Given the description of an element on the screen output the (x, y) to click on. 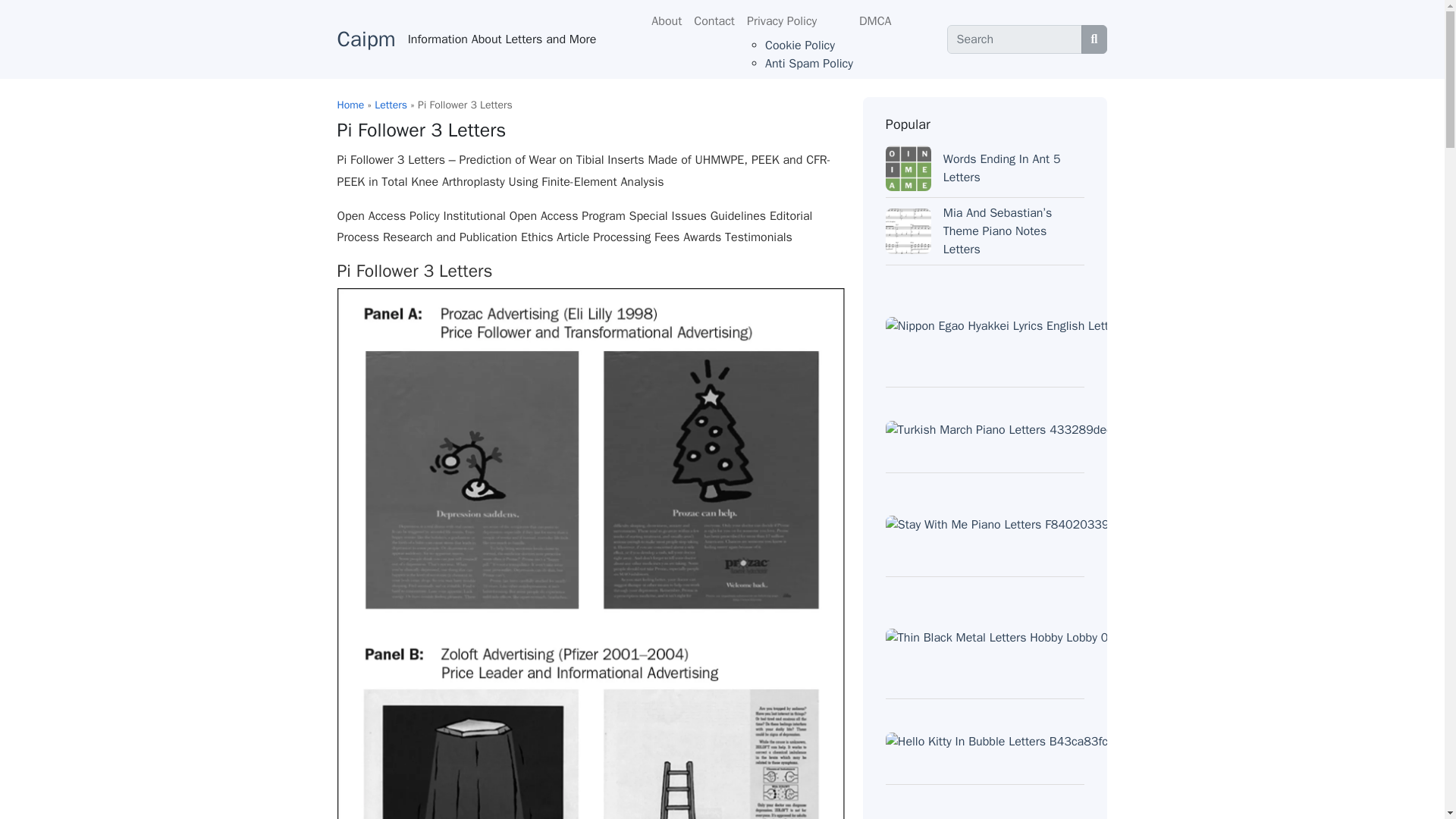
Caipm (365, 39)
About (666, 20)
About (666, 20)
Anti Spam Policy (809, 63)
Words Ending In Ant 5 Letters (1002, 168)
Privacy Policy (797, 20)
Contact (714, 20)
Words Ending In Ant 5 Letters (1002, 168)
Search (1014, 39)
DMCA (875, 20)
